Given the description of an element on the screen output the (x, y) to click on. 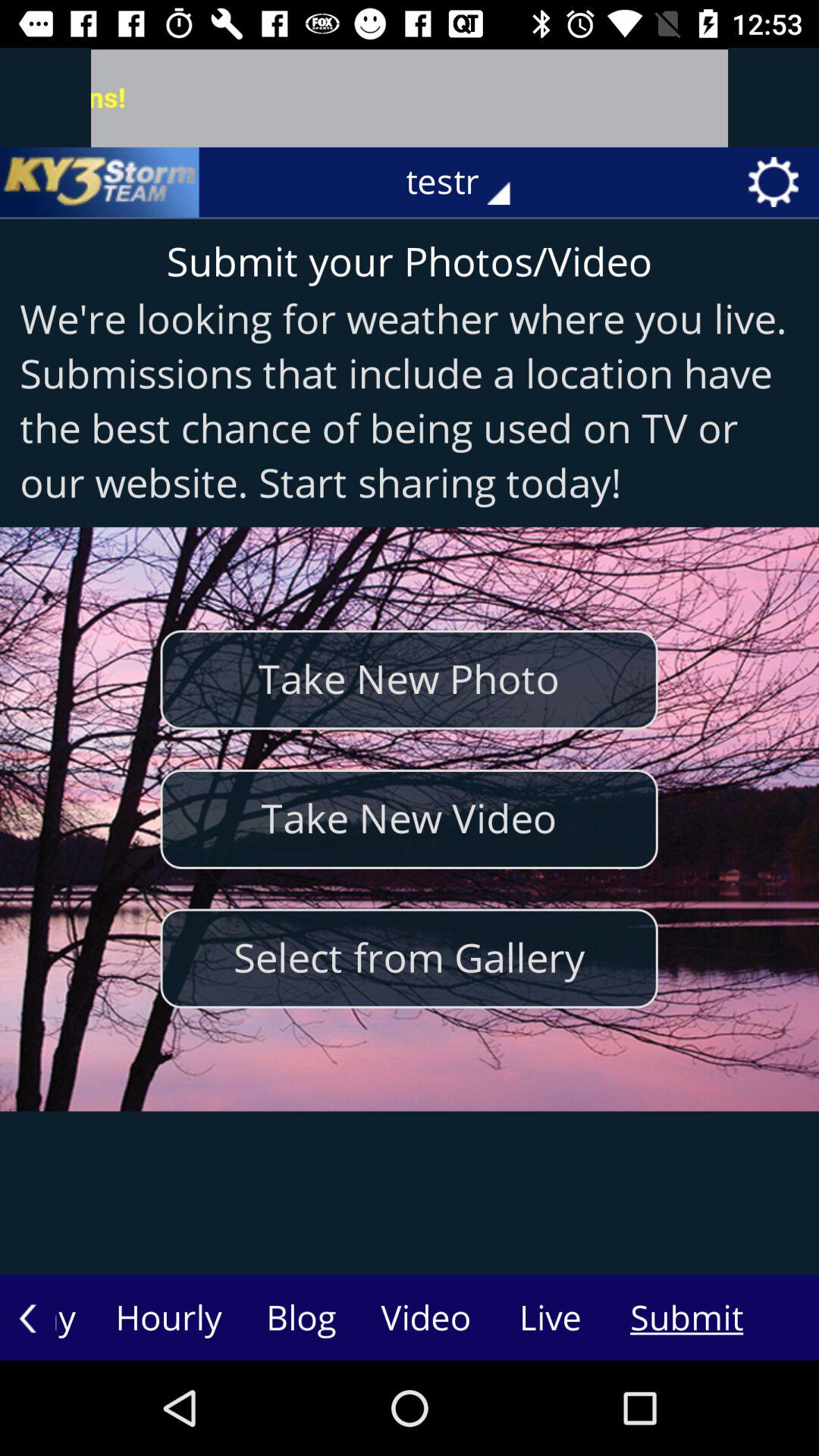
press the item to the left of testr icon (99, 182)
